Given the description of an element on the screen output the (x, y) to click on. 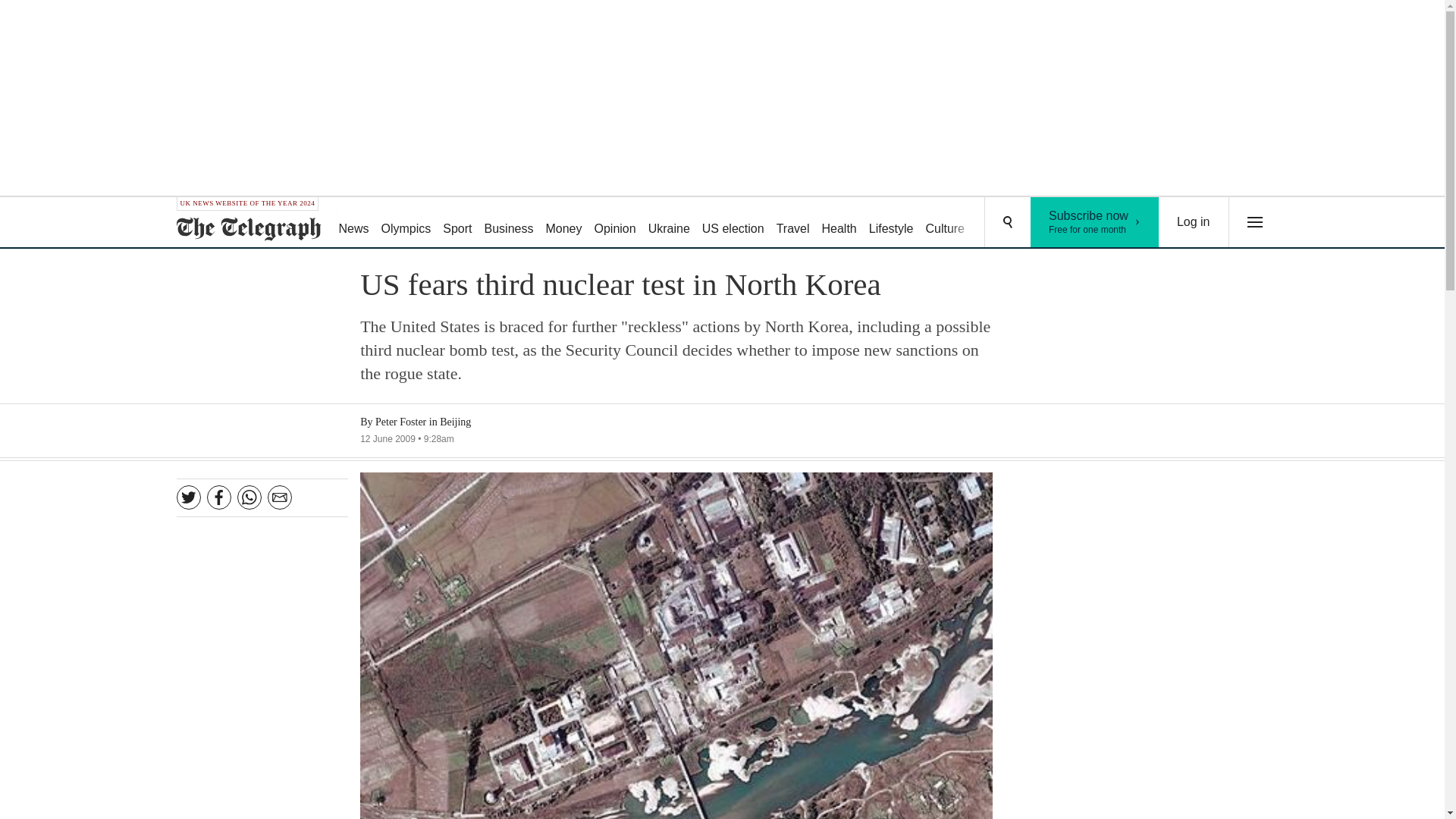
Puzzles (998, 223)
Business (509, 223)
Olympics (406, 223)
Log in (1193, 222)
US election (732, 223)
Ukraine (668, 223)
Travel (1094, 222)
Money (792, 223)
Health (563, 223)
